Given the description of an element on the screen output the (x, y) to click on. 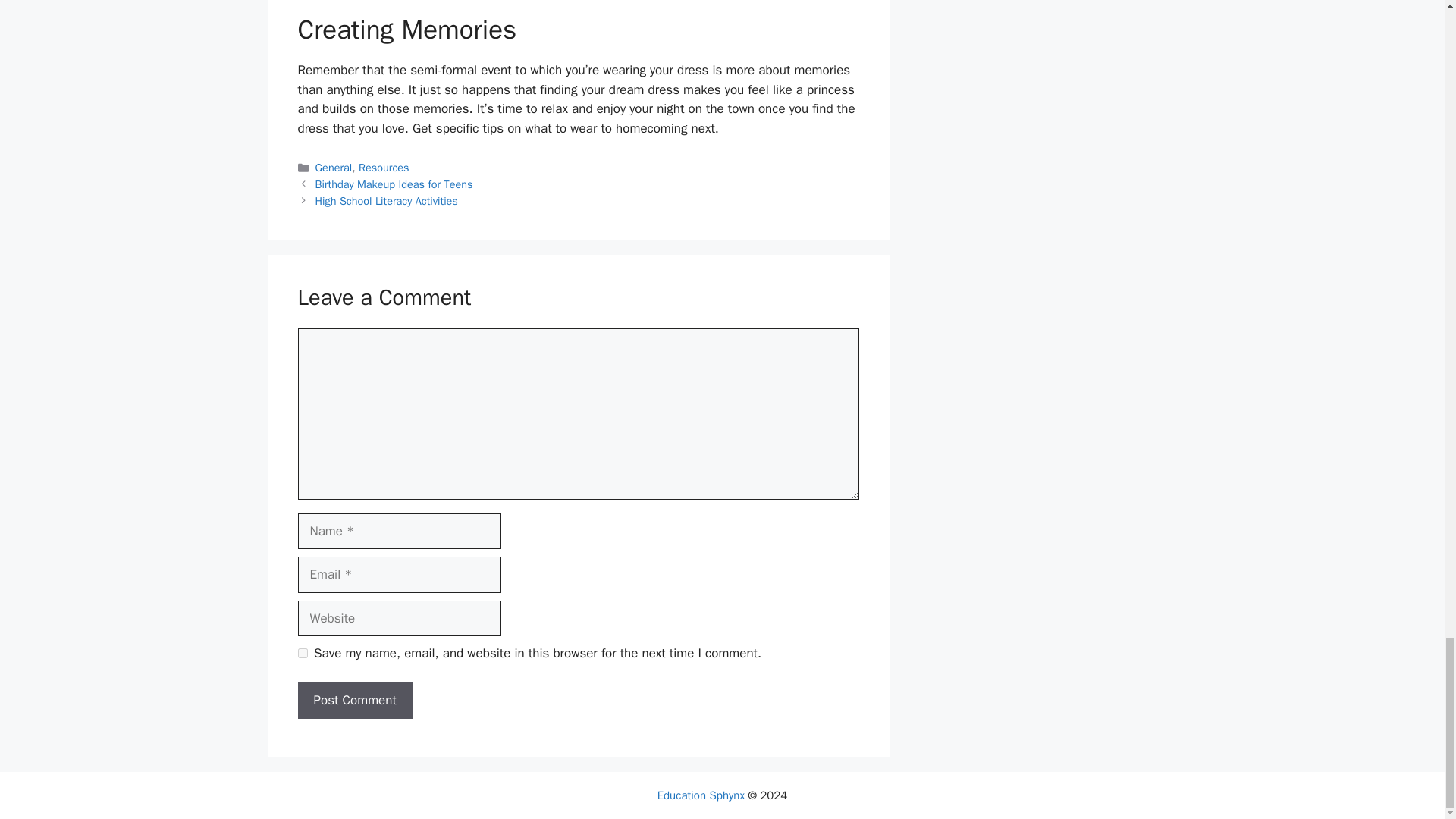
yes (302, 653)
Post Comment (354, 700)
